Given the description of an element on the screen output the (x, y) to click on. 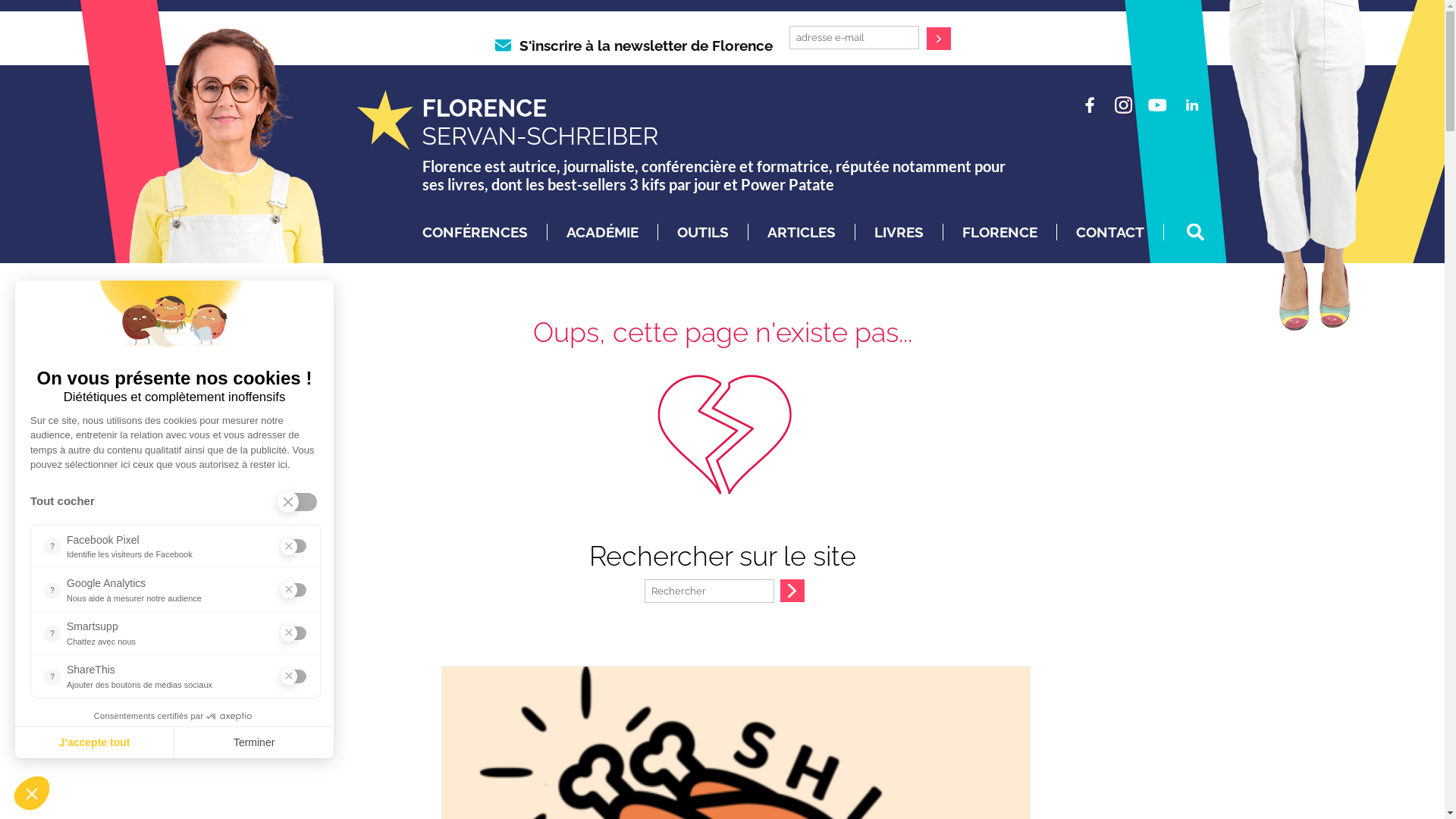
LIVRES Element type: text (897, 231)
OUTILS Element type: text (702, 231)
ARTICLES Element type: text (801, 231)
FLORENCE Element type: text (998, 231)
CONTACT Element type: text (1109, 231)
